Given the description of an element on the screen output the (x, y) to click on. 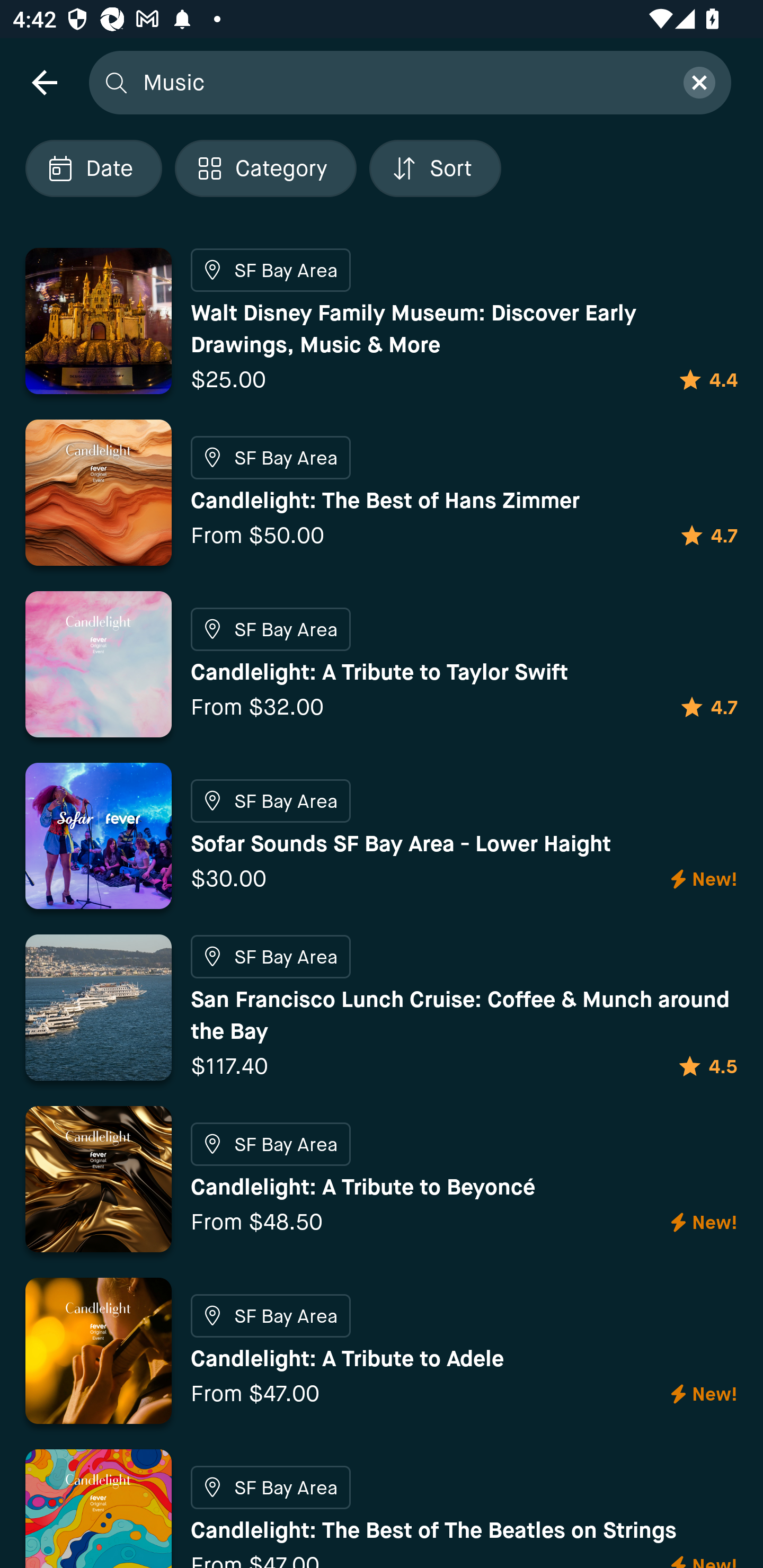
navigation icon (44, 81)
Music (402, 81)
Localized description Date (93, 168)
Localized description Category (265, 168)
Localized description Sort (435, 168)
